Given the description of an element on the screen output the (x, y) to click on. 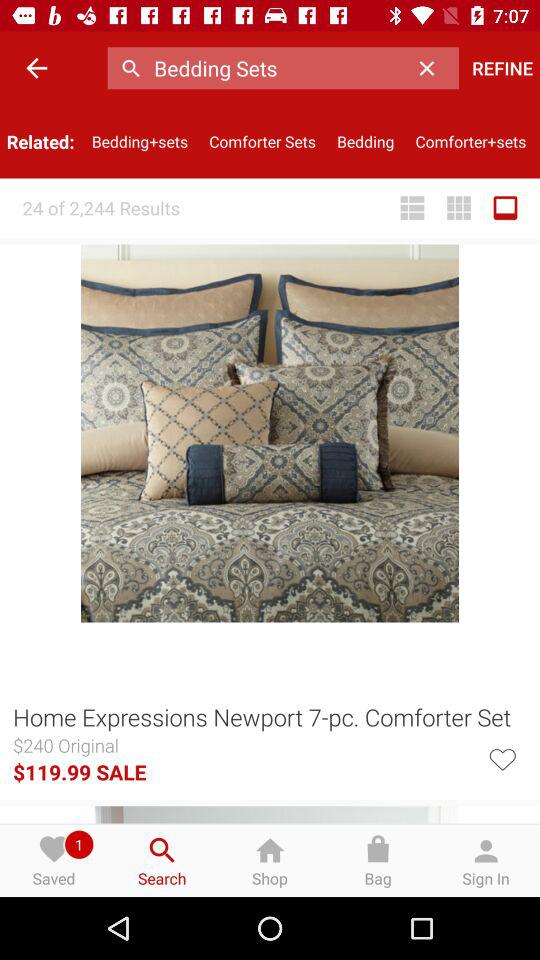
tap the icon to the left of the refine icon (432, 67)
